Given the description of an element on the screen output the (x, y) to click on. 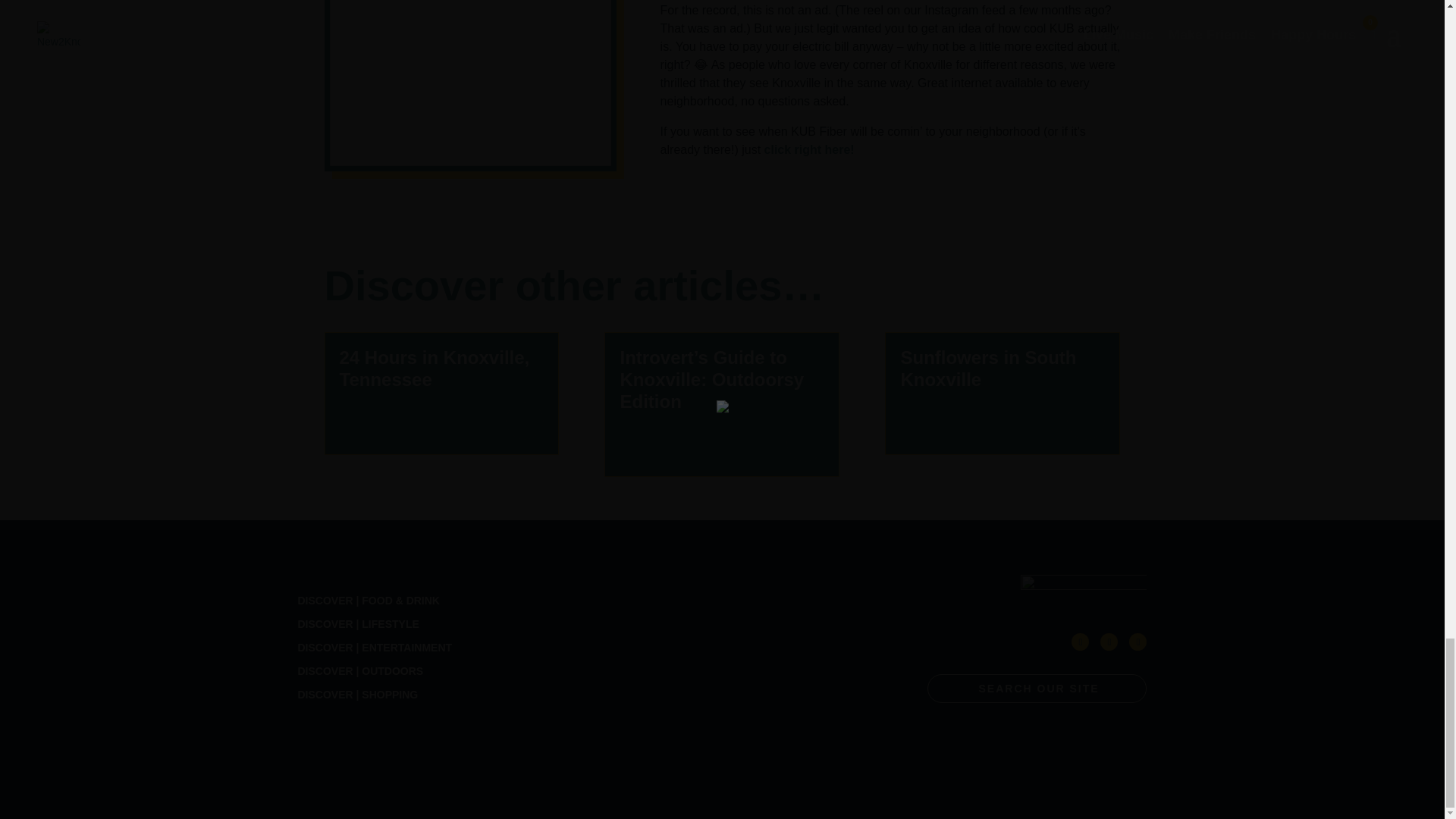
Follow on Facebook (1080, 641)
Follow on Pinterest (1109, 641)
Follow on Instagram (1138, 641)
Asset 2 (1083, 591)
